Given the description of an element on the screen output the (x, y) to click on. 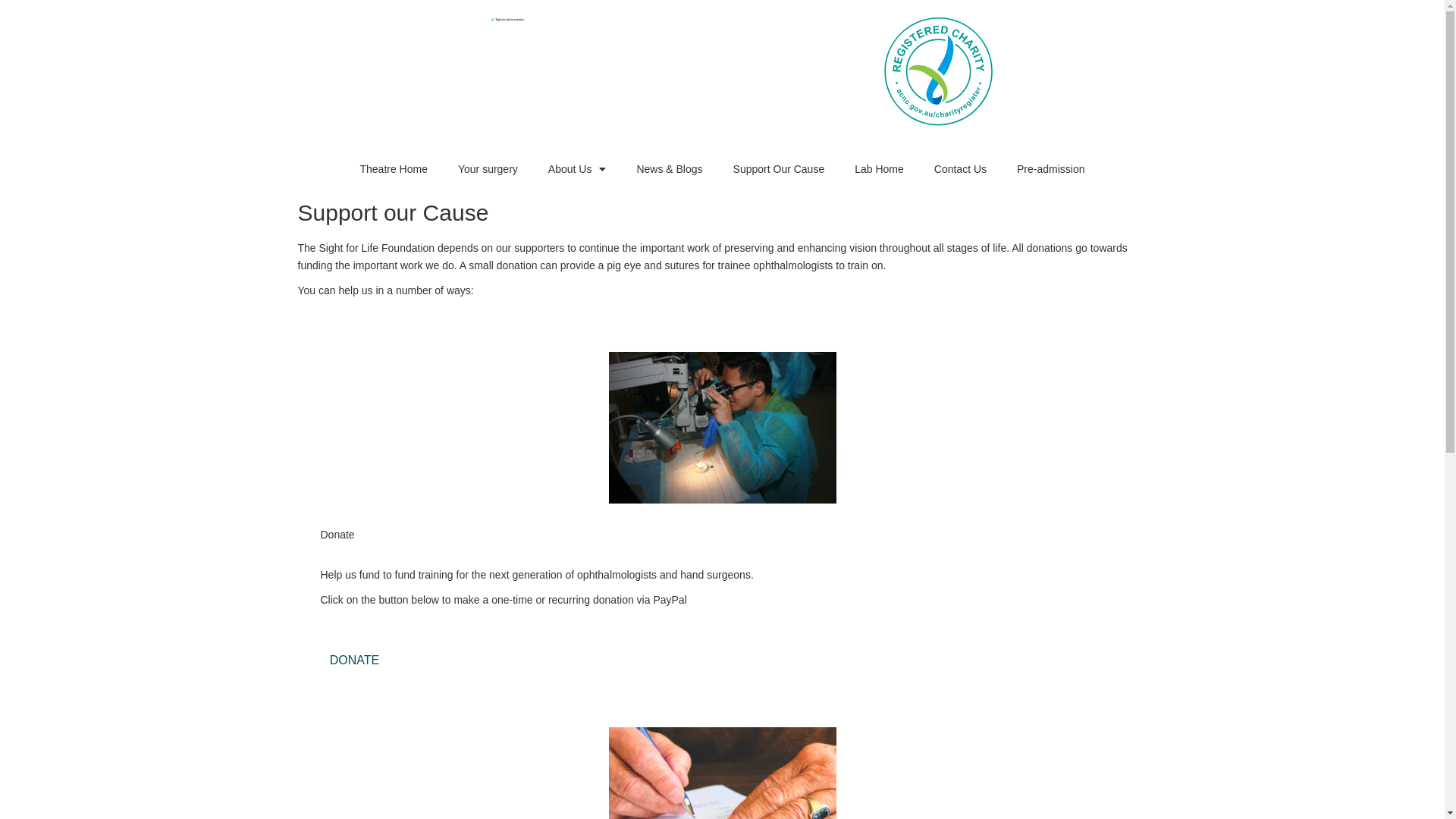
Your surgery Element type: text (487, 168)
DONATE Element type: text (354, 660)
Lab Home Element type: text (879, 168)
News & Blogs Element type: text (669, 168)
Support Our Cause Element type: text (779, 168)
Contact Us Element type: text (960, 168)
About Us Element type: text (577, 168)
Pre-admission Element type: text (1050, 168)
Theatre Home Element type: text (393, 168)
